Given the description of an element on the screen output the (x, y) to click on. 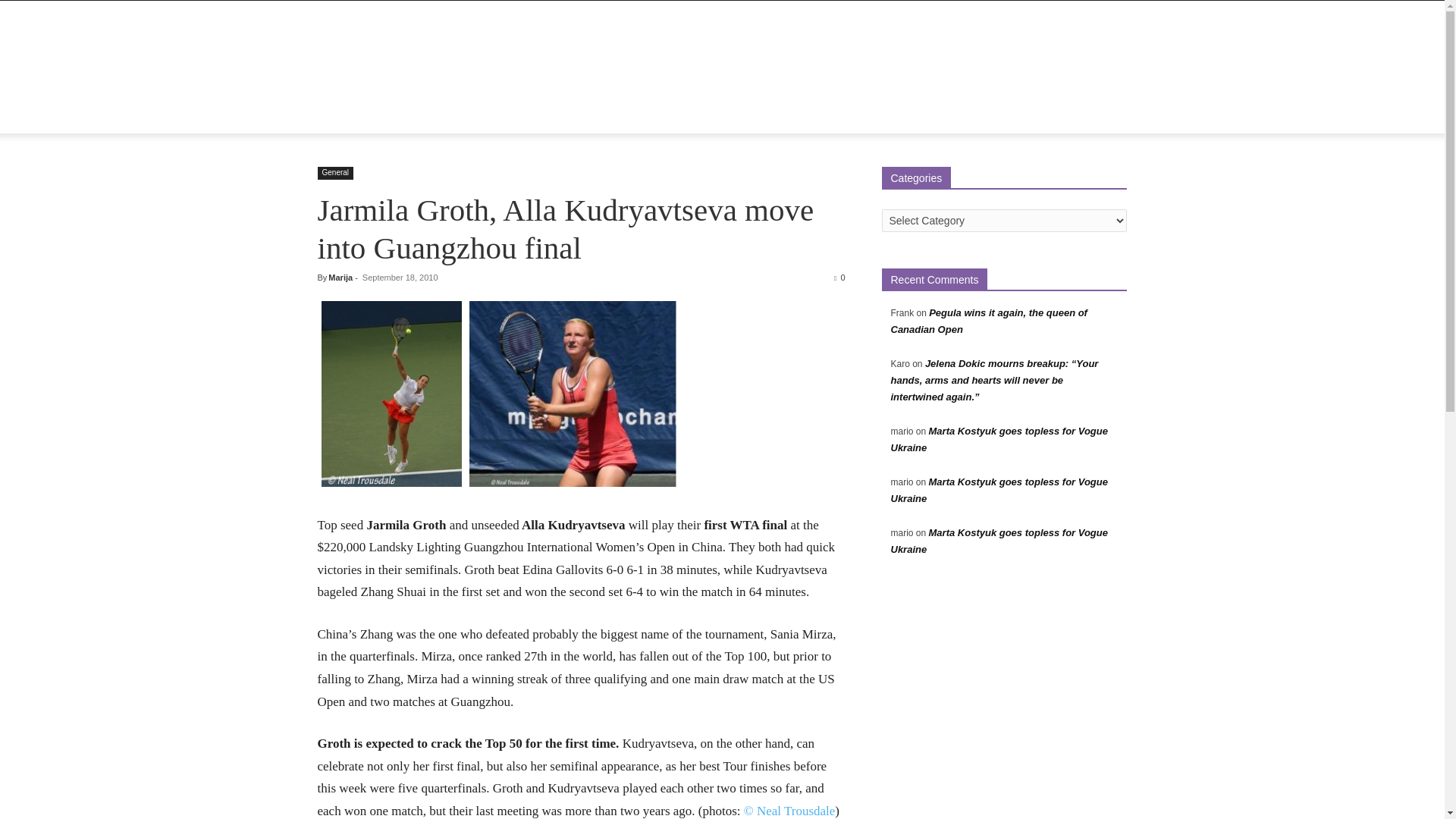
Search (1085, 175)
Contact Us (659, 115)
About (389, 115)
Featured (445, 115)
Subscribe (728, 115)
Home (341, 115)
